Given the description of an element on the screen output the (x, y) to click on. 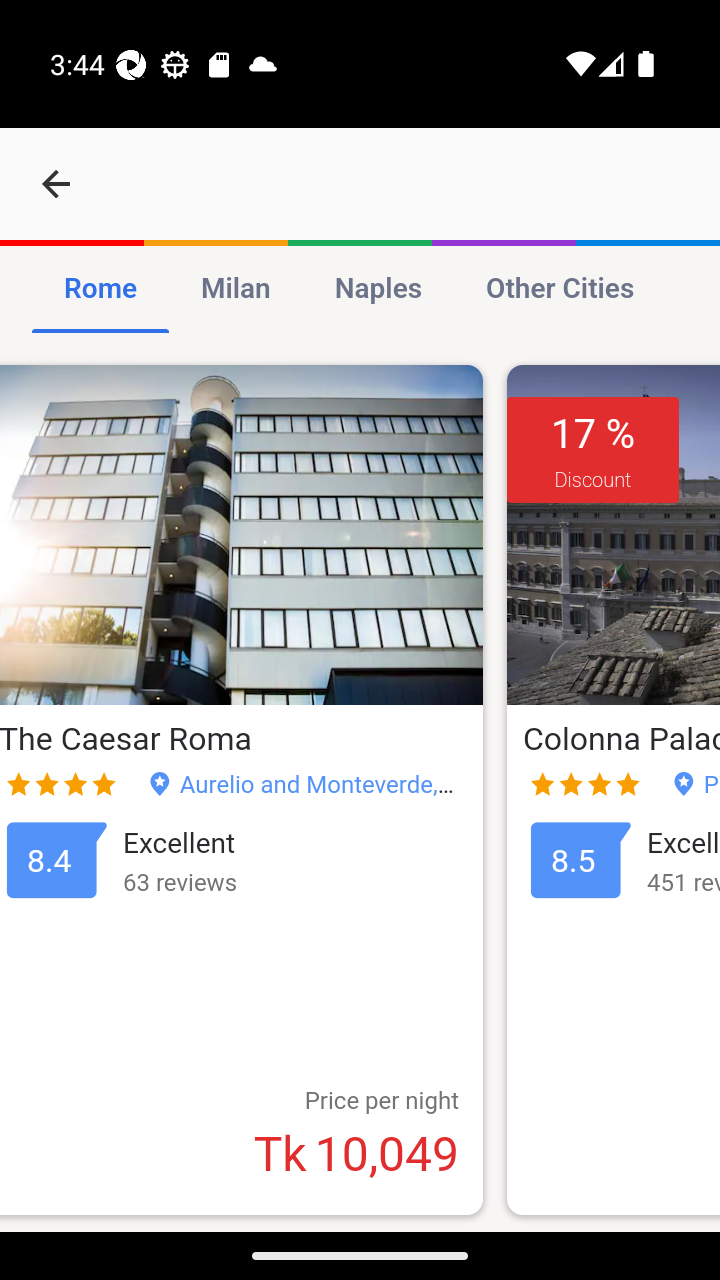
navigation_button (56, 184)
